Given the description of an element on the screen output the (x, y) to click on. 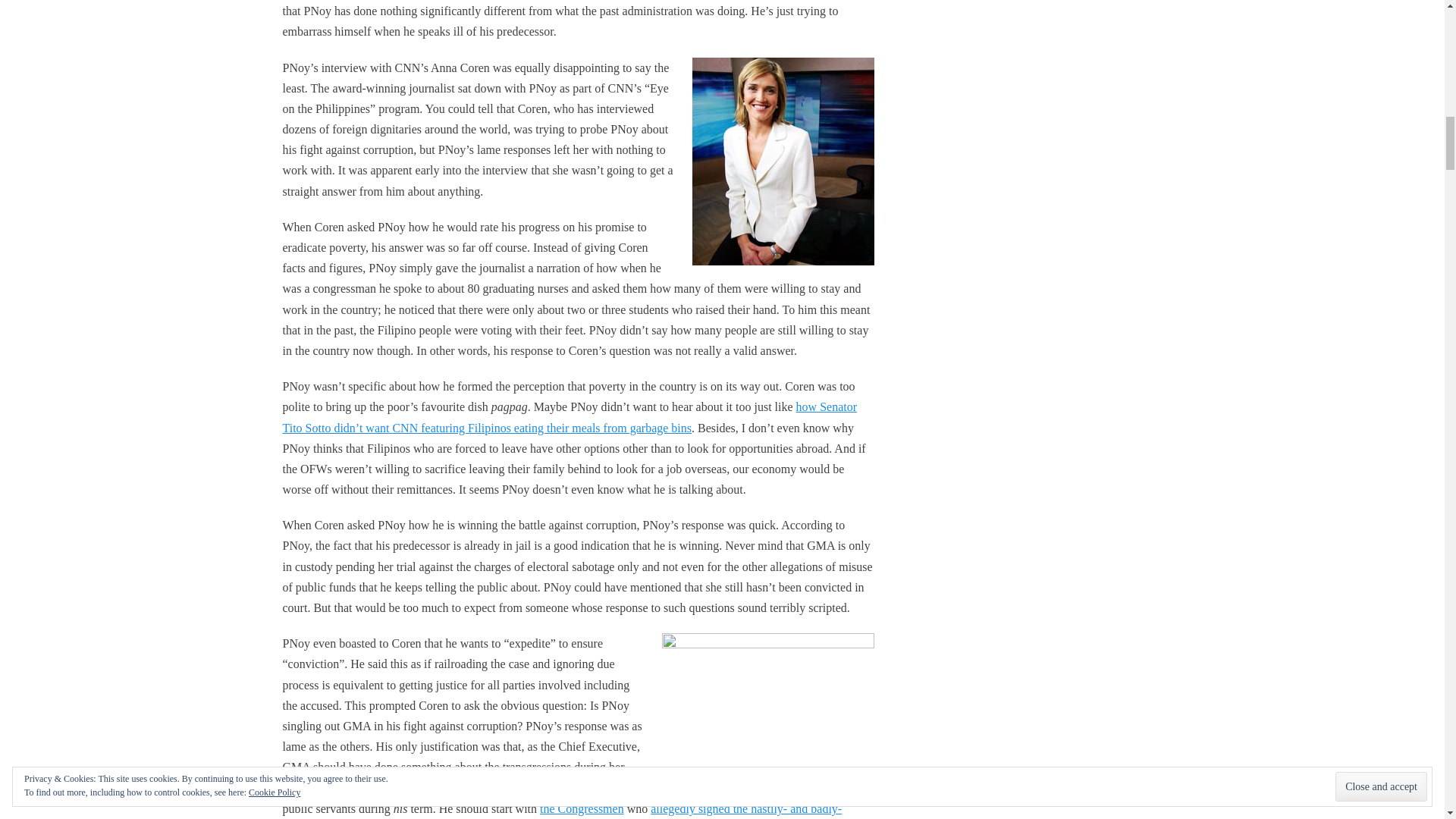
the Congressmen (582, 808)
